Given the description of an element on the screen output the (x, y) to click on. 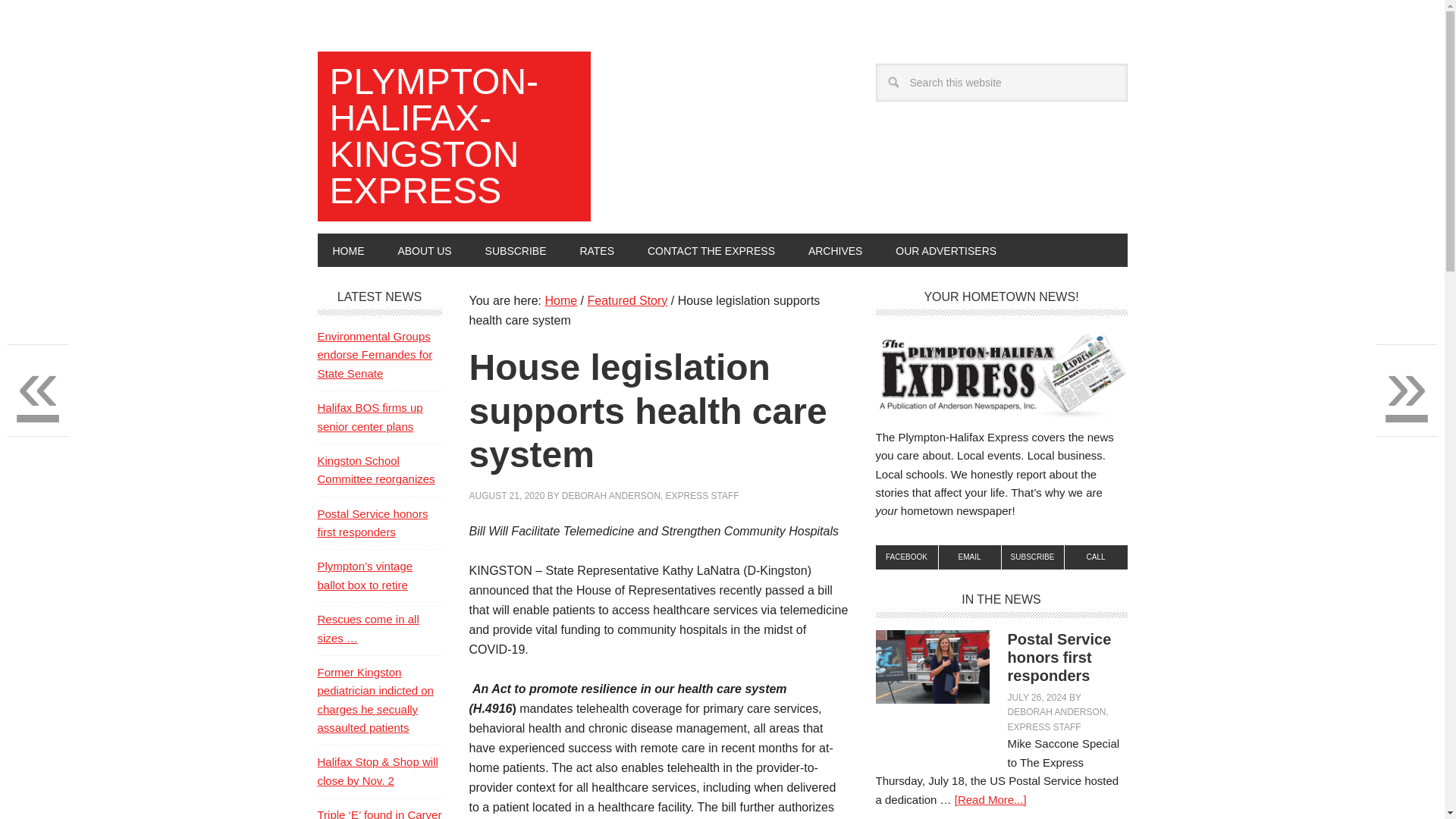
Kingston School Committee reorganizes (375, 469)
PLYMPTON-HALIFAX-KINGSTON EXPRESS (453, 136)
ARCHIVES (835, 249)
SUBSCRIBE (1032, 557)
Home (560, 300)
Postal Service honors first responders (1058, 656)
Featured Story (626, 300)
FACEBOOK (906, 557)
CALL (1095, 557)
OUR ADVERTISERS (945, 249)
EMAIL (970, 557)
HOME (347, 249)
RATES (596, 249)
